Given the description of an element on the screen output the (x, y) to click on. 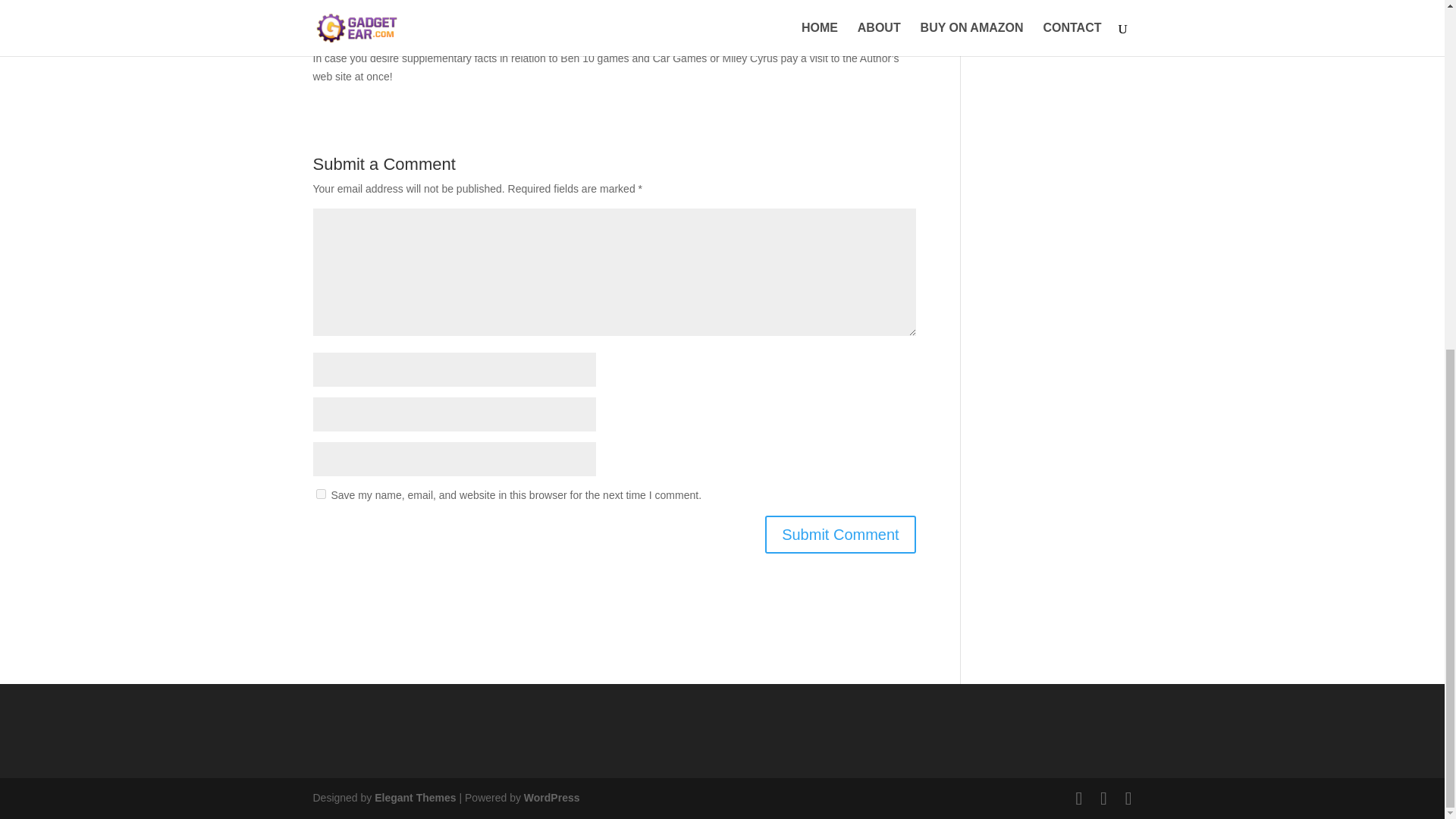
yes (319, 493)
Elegant Themes (414, 797)
WordPress (551, 797)
Premium WordPress Themes (414, 797)
Submit Comment (840, 534)
Submit Comment (840, 534)
